Given the description of an element on the screen output the (x, y) to click on. 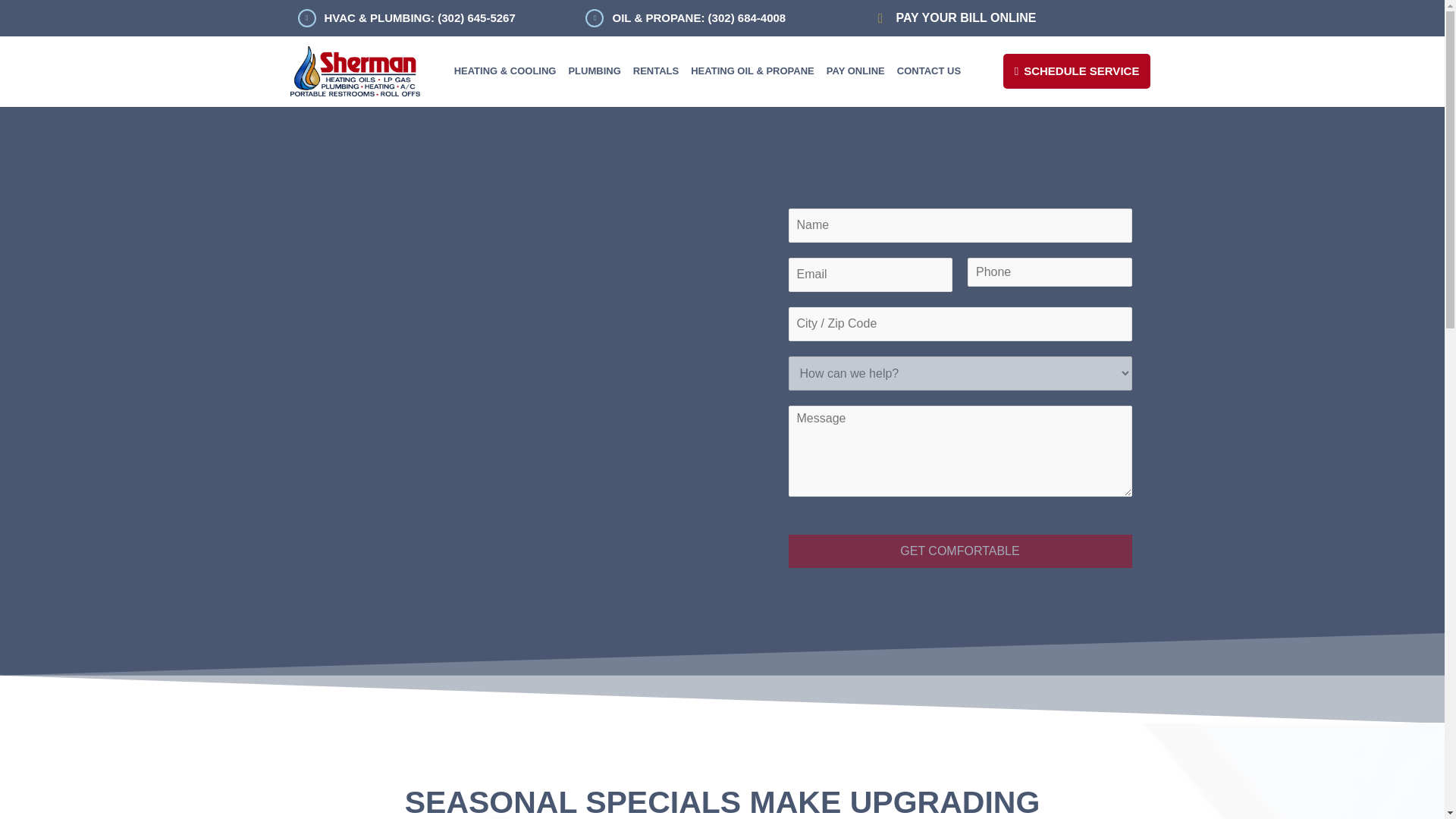
PAY YOUR BILL ONLINE (965, 17)
RENTALS (655, 71)
CONTACT US (928, 71)
PLUMBING (594, 71)
PAY ONLINE (856, 71)
